Given the description of an element on the screen output the (x, y) to click on. 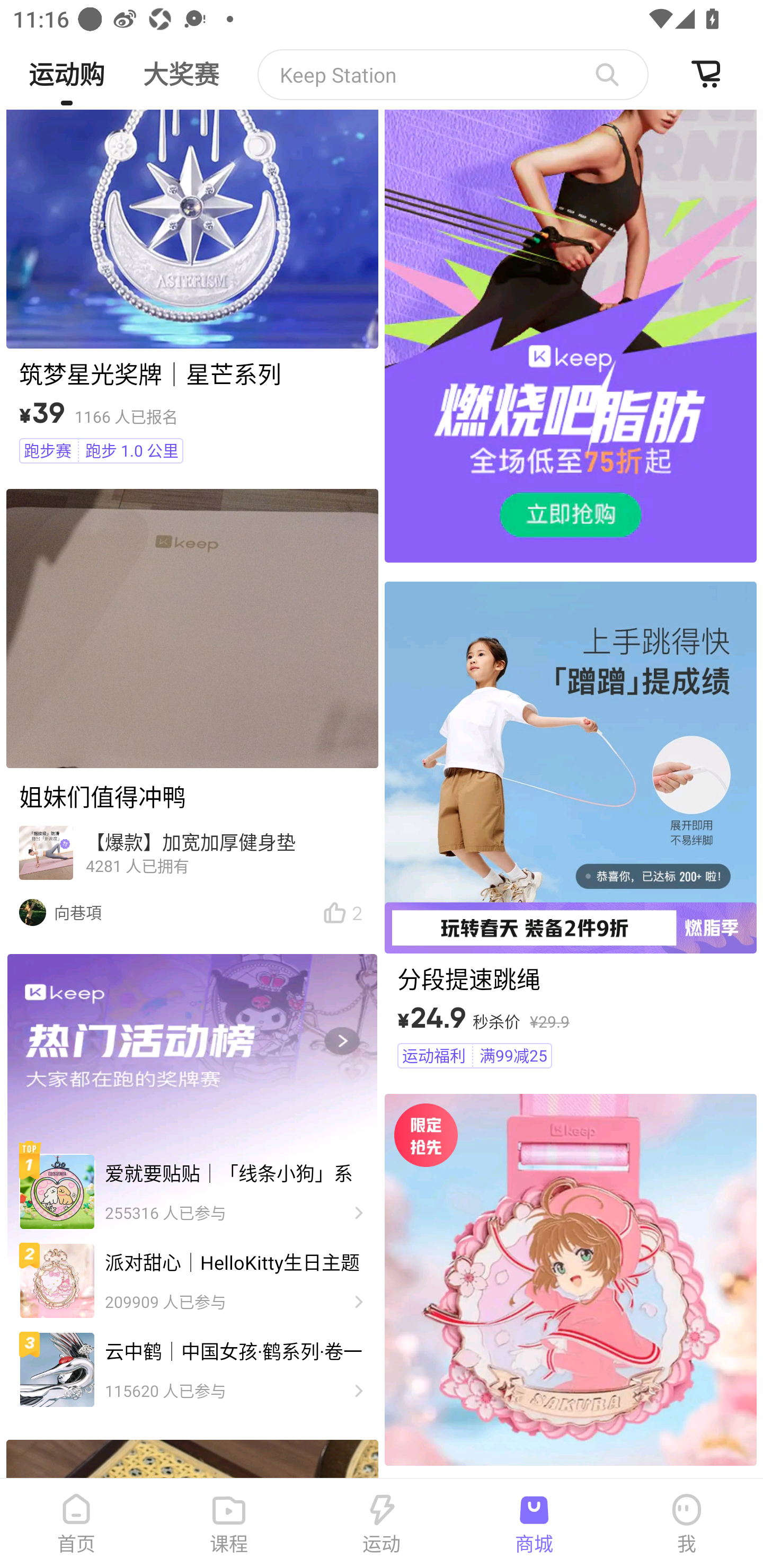
运动购 (66, 66)
大奖赛 (180, 66)
智能手环新品上市 (452, 74)
筑梦星光奖牌｜星芒系列 ¥ 39 1166 人已报名 跑步赛 跑步 1.0 公里 (192, 289)
【爆款】加宽加厚健身垫 4281 人已拥有 向巷項 2  (192, 711)
分段提速跳绳 ¥ 24.9 秒杀价 ¥29.9 运动福利 满99减25 (570, 827)
【爆款】加宽加厚健身垫 4281 人已拥有 (192, 856)
向巷項 (177, 912)
樱花蛋糕奖牌-基础款 (570, 1286)
首页 (76, 1523)
课程 (228, 1523)
运动 (381, 1523)
商城 (533, 1523)
我 (686, 1523)
